Given the description of an element on the screen output the (x, y) to click on. 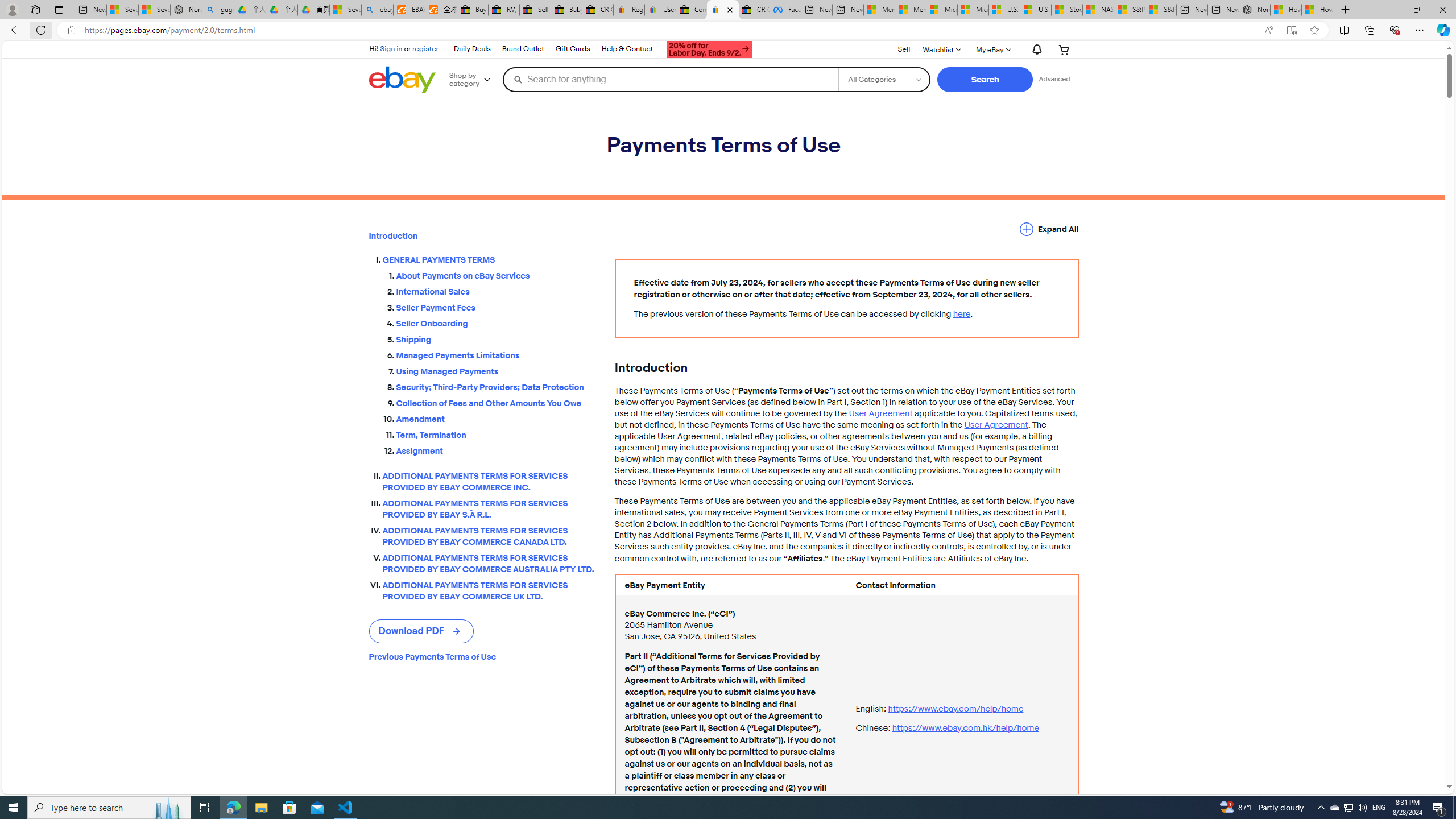
Advanced Search (1053, 78)
Shop by category (473, 79)
here (961, 314)
guge yunpan - Search (218, 9)
Get the coupon now (709, 50)
Brand Outlet (521, 49)
Payments Terms of Use | eBay.com (722, 9)
